Given the description of an element on the screen output the (x, y) to click on. 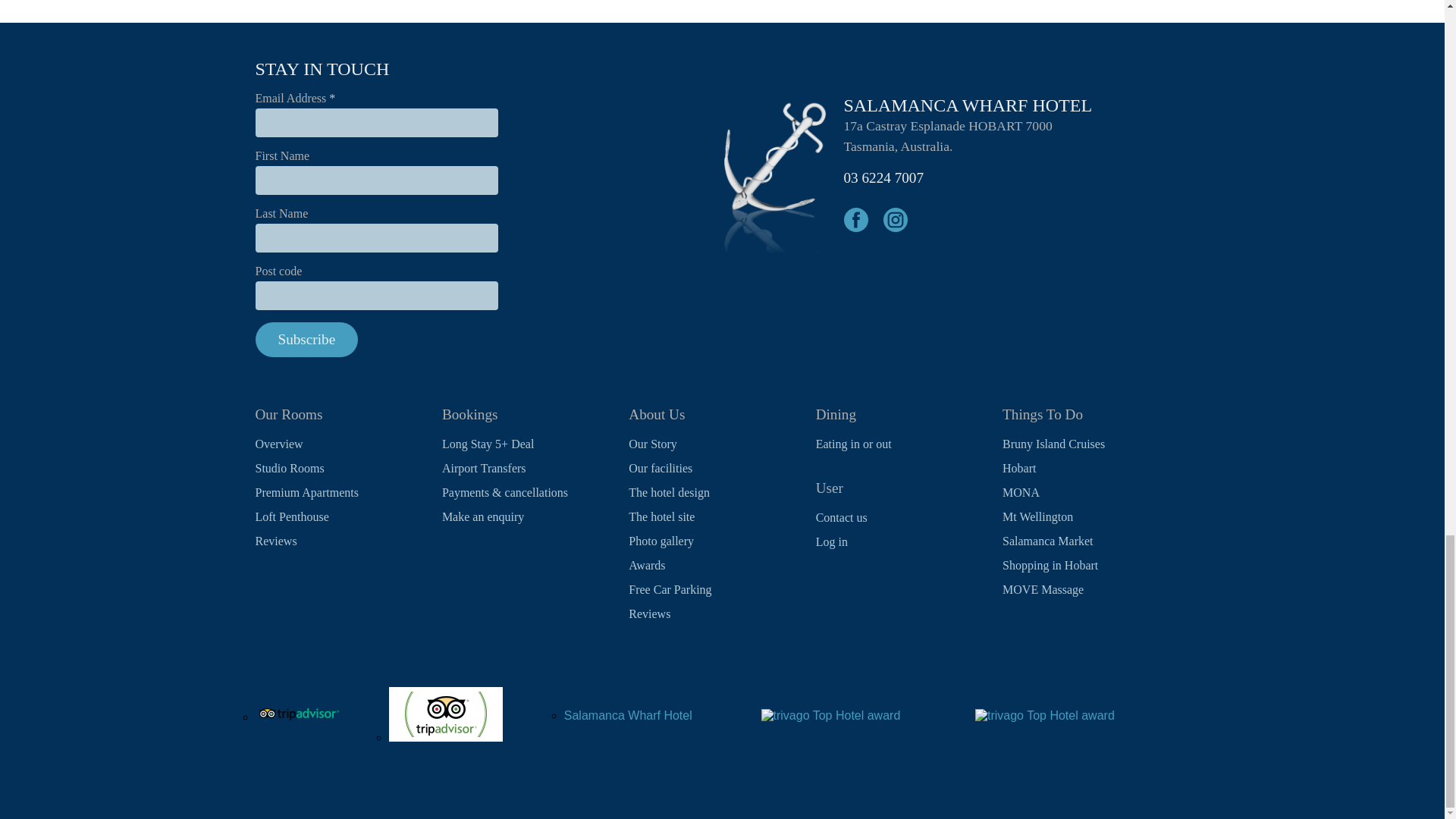
Follow Salamanca Wharf Hotel on Facebook (855, 219)
Subscribe (306, 339)
Follow Salamanca Wharf Hotel on Instagram (895, 219)
